Given the description of an element on the screen output the (x, y) to click on. 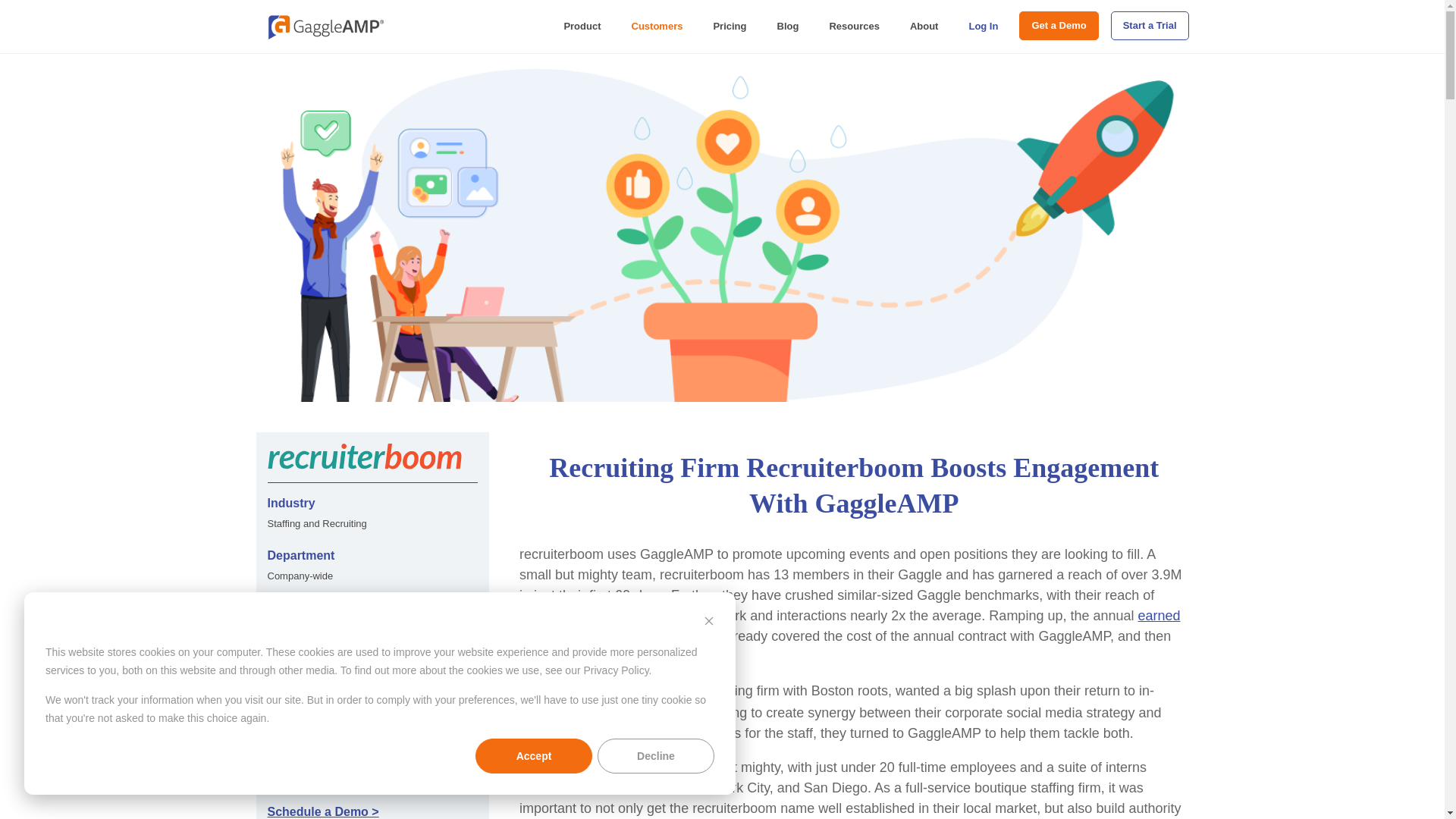
earned media value (849, 625)
Start a Trial (1149, 25)
Blog (787, 26)
recruiterboom (561, 691)
Pricing (729, 26)
Get a Demo (1058, 25)
Log In (983, 26)
Product (581, 26)
GaggleAMP Logo (323, 26)
Resources (853, 26)
About (924, 26)
Customers (656, 26)
